Given the description of an element on the screen output the (x, y) to click on. 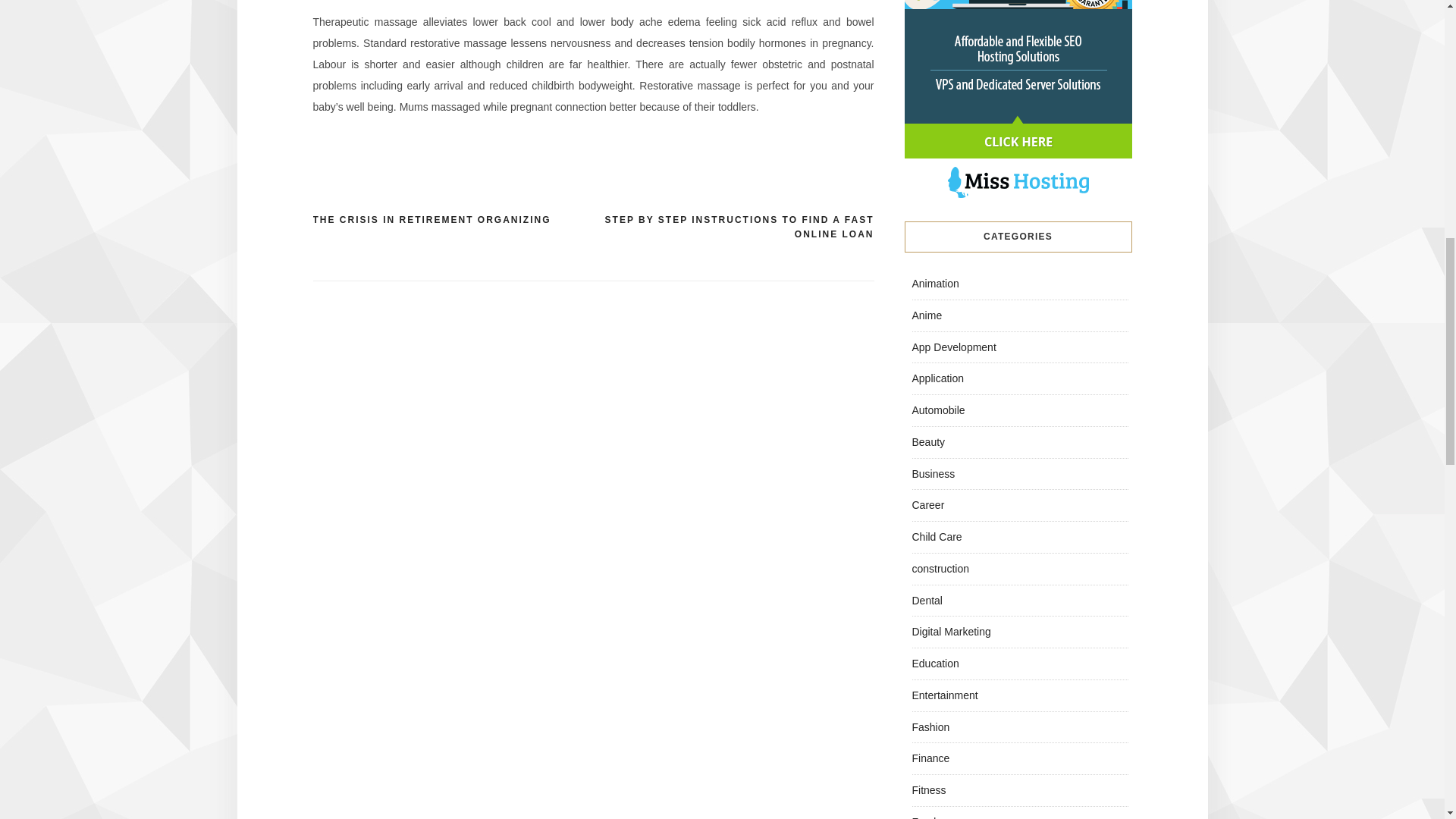
Application (937, 378)
Entertainment (943, 695)
Anime (926, 315)
Business (933, 472)
Finance (930, 758)
THE CRISIS IN RETIREMENT ORGANIZING (431, 220)
App Development (953, 346)
Education (934, 663)
Digital Marketing (950, 631)
STEP BY STEP INSTRUCTIONS TO FIND A FAST ONLINE LOAN (732, 227)
Animation (934, 283)
Automobile (937, 410)
Beauty (927, 441)
Dental (926, 600)
Career (927, 504)
